Given the description of an element on the screen output the (x, y) to click on. 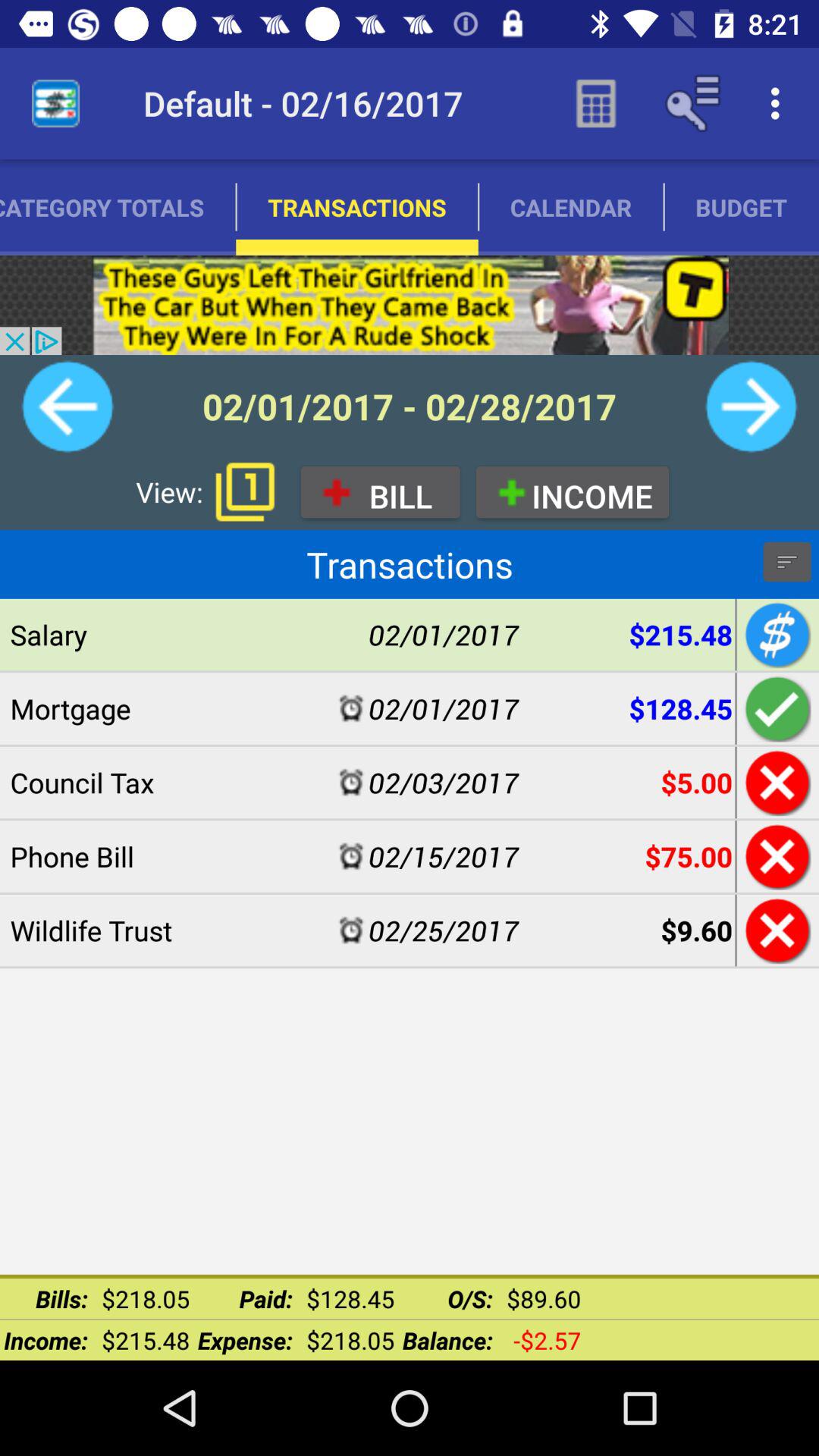
go to previous (67, 406)
